Given the description of an element on the screen output the (x, y) to click on. 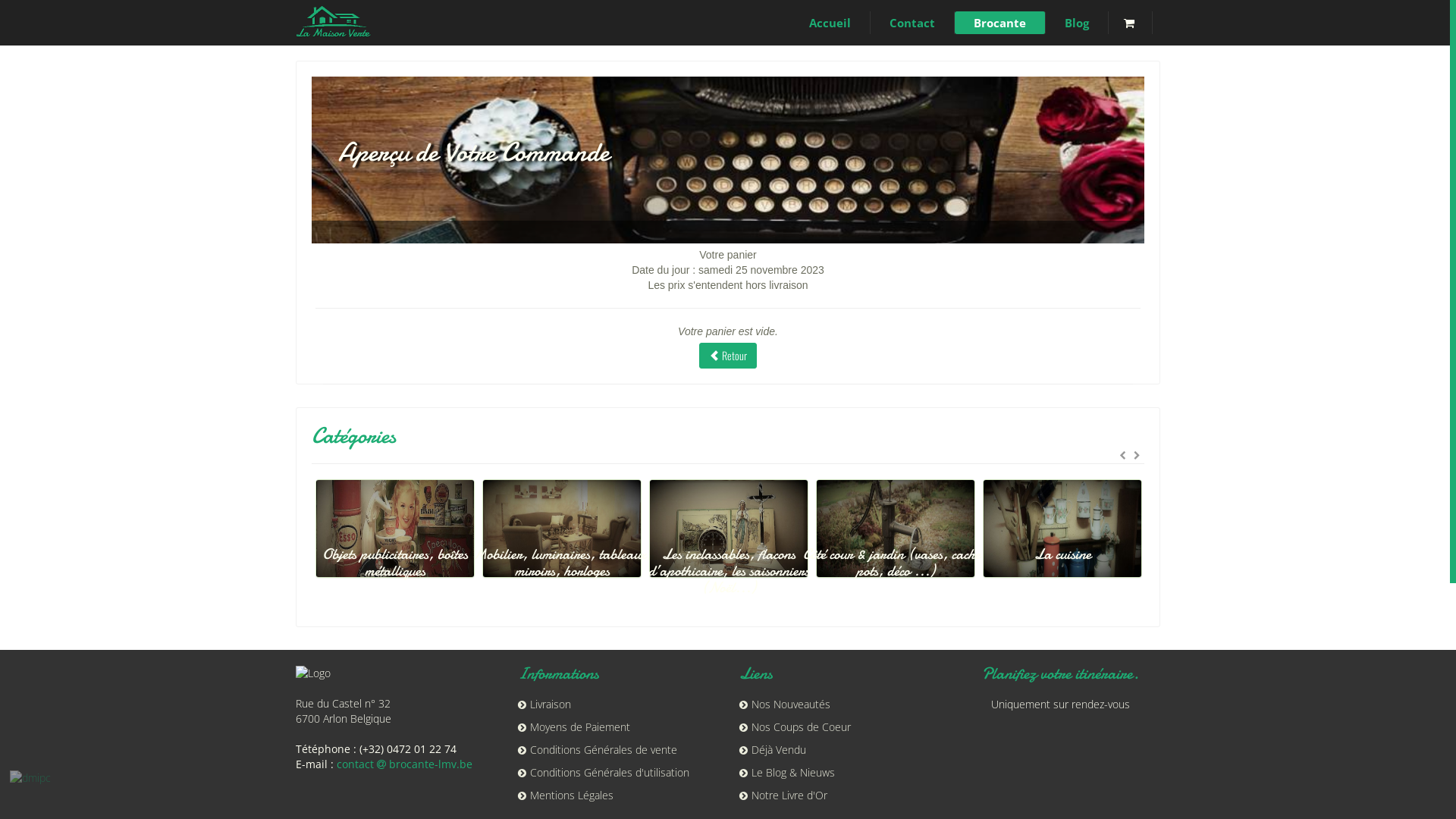
Blog Element type: text (1076, 22)
Notre Livre d'Or Element type: text (783, 794)
Nos Coups de Coeur Element type: text (794, 726)
Nos coups de coeur Element type: text (305, 544)
Retour Element type: text (727, 355)
Mobilier, luminaires, tableaux, miroirs, horloges Element type: text (626, 553)
Accueil Element type: text (830, 22)
Moyens de Paiement Element type: text (573, 726)
Contact Element type: text (912, 22)
contact  brocante-lmv.be Element type: text (404, 763)
Livraison Element type: text (543, 703)
La cuisine Element type: text (1106, 544)
Le Blog & Nieuws Element type: text (786, 772)
Brocante Element type: text (999, 22)
